Given the description of an element on the screen output the (x, y) to click on. 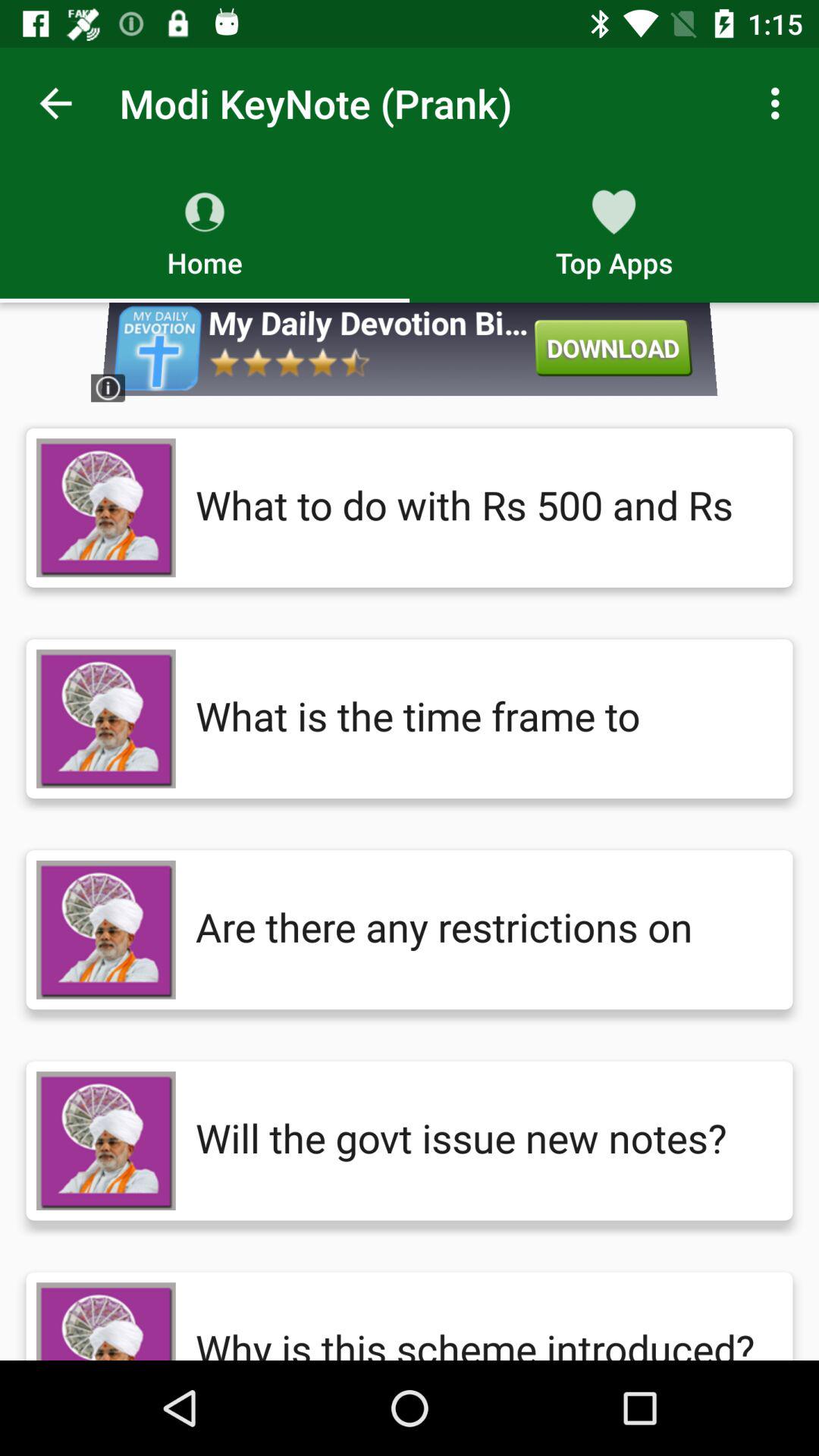
open the why is this item (478, 1321)
